Given the description of an element on the screen output the (x, y) to click on. 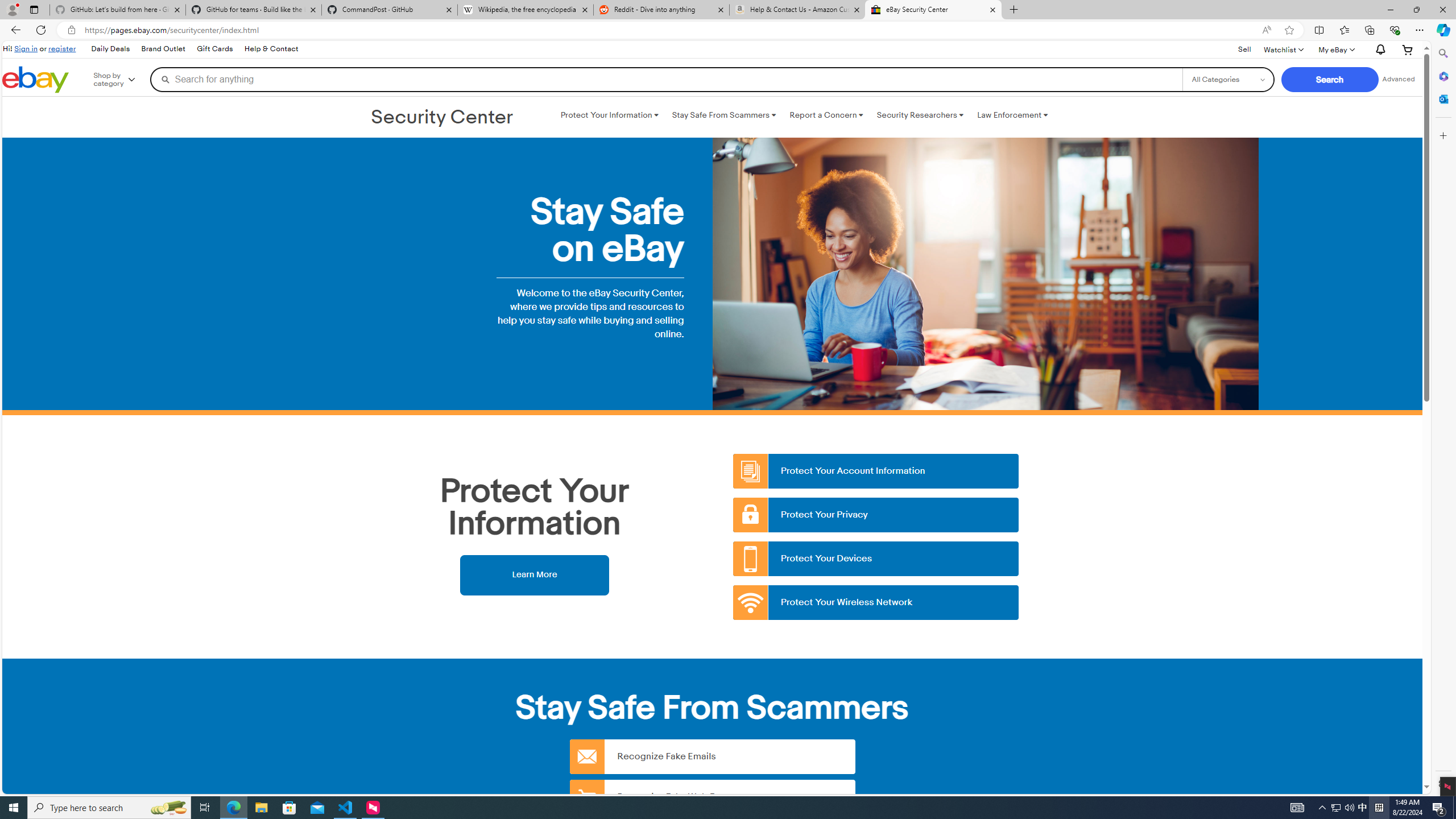
Sell (1244, 49)
Gift Cards (214, 49)
Recognize Fake Web Pages (712, 796)
Brand Outlet (162, 49)
Help & Contact (271, 49)
Protect Your Wireless Network (876, 602)
eBay Home (35, 79)
Protect Your Account Information (876, 470)
Advanced Search (1398, 78)
Favorites (1344, 29)
